Given the description of an element on the screen output the (x, y) to click on. 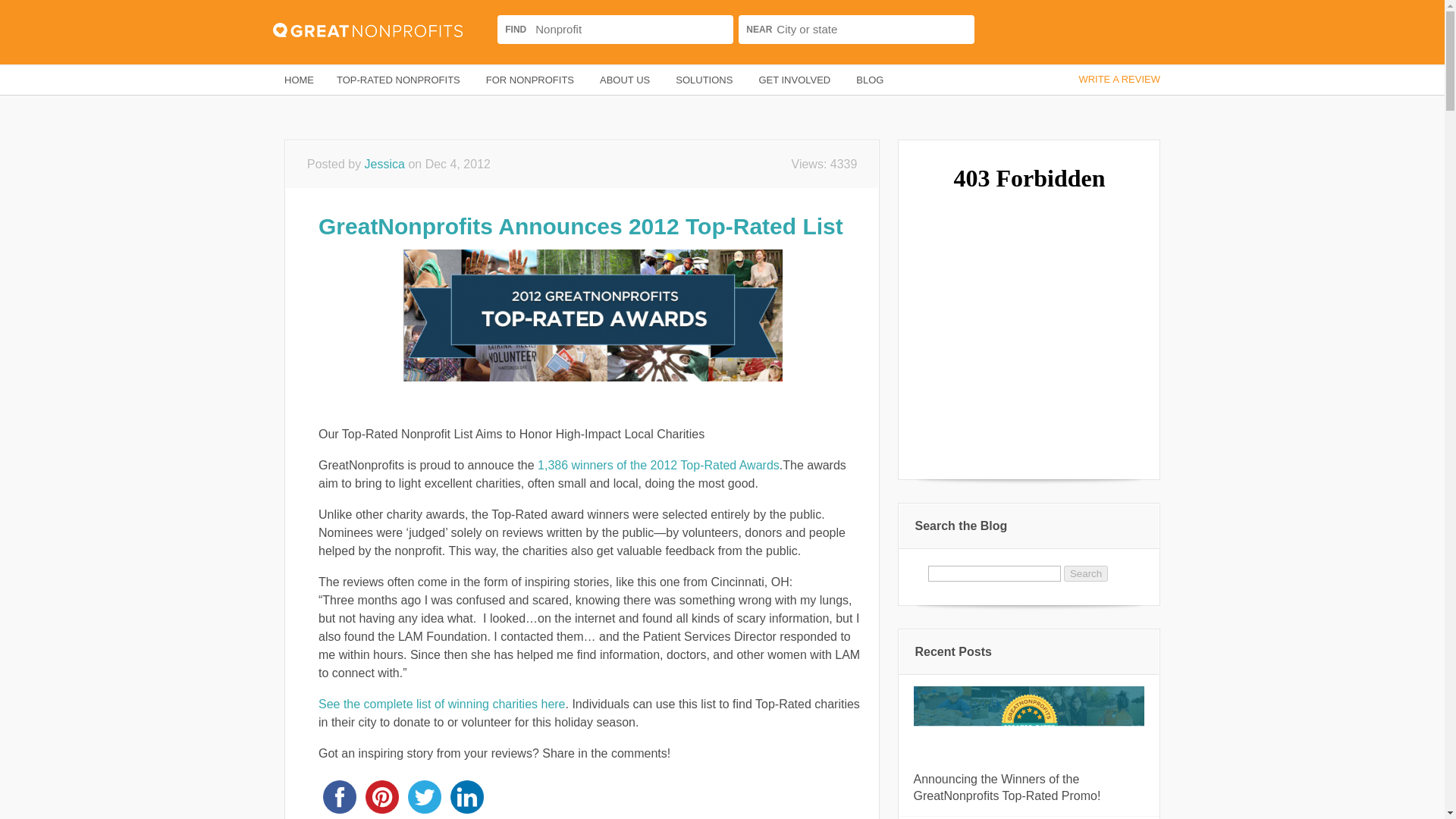
pinterest (382, 796)
GET INVOLVED (795, 80)
linkedin (466, 796)
Search (1002, 30)
Search (1086, 573)
Posts by Jessica (384, 164)
SOLUTIONS (704, 80)
FOR NONPROFITS (531, 80)
facebook (339, 796)
TOP-RATED NONPROFITS (399, 80)
